Given the description of an element on the screen output the (x, y) to click on. 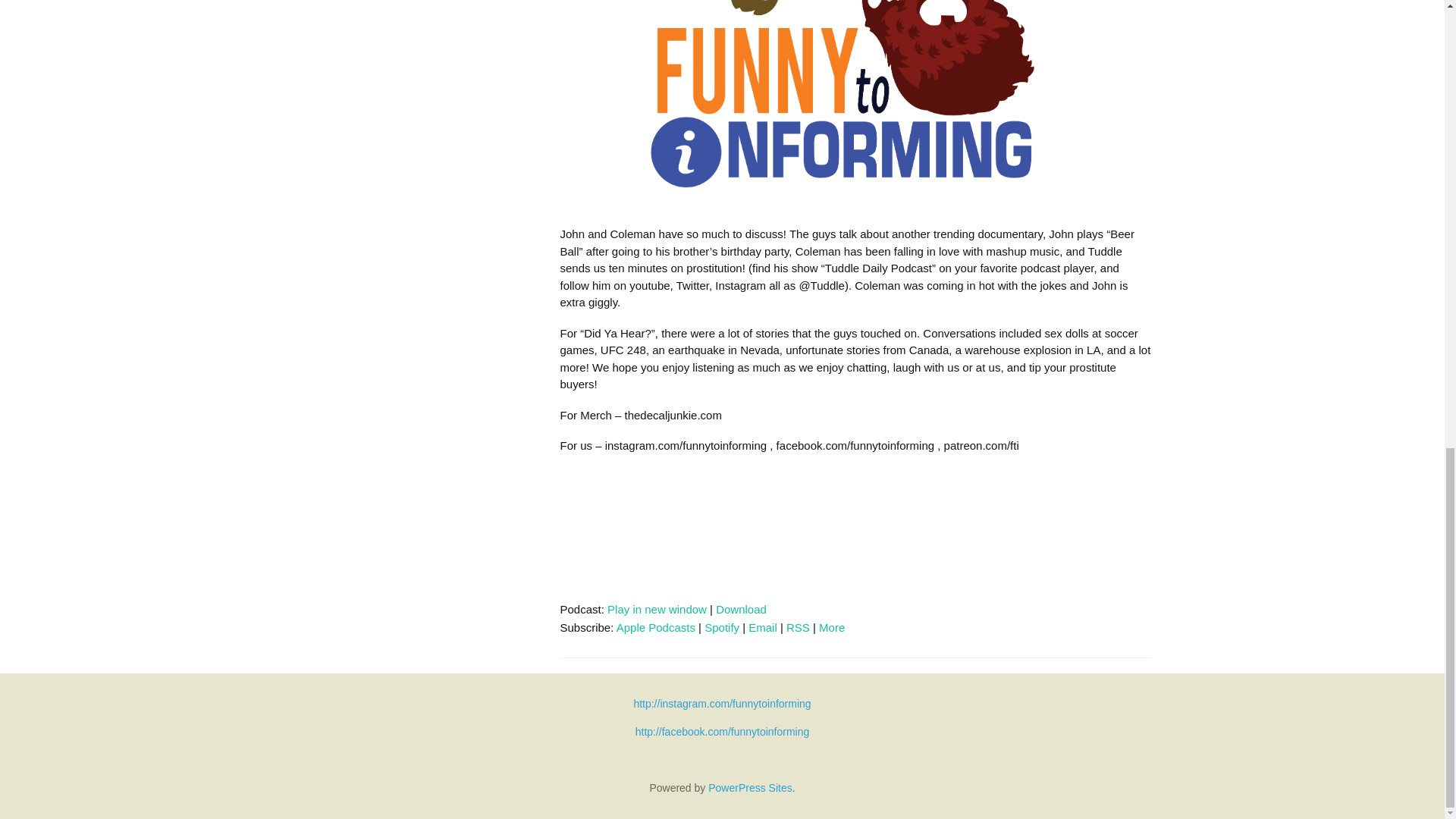
Play in new window (656, 608)
Subscribe via RSS (797, 626)
Subscribe on Spotify (721, 626)
More (831, 626)
Subscribe on Apple Podcasts (655, 626)
Managed WordPress Hosting for your audio and video website (749, 787)
Blubrry Podcast Player (854, 530)
Subscribe by Email (762, 626)
Download (741, 608)
